Given the description of an element on the screen output the (x, y) to click on. 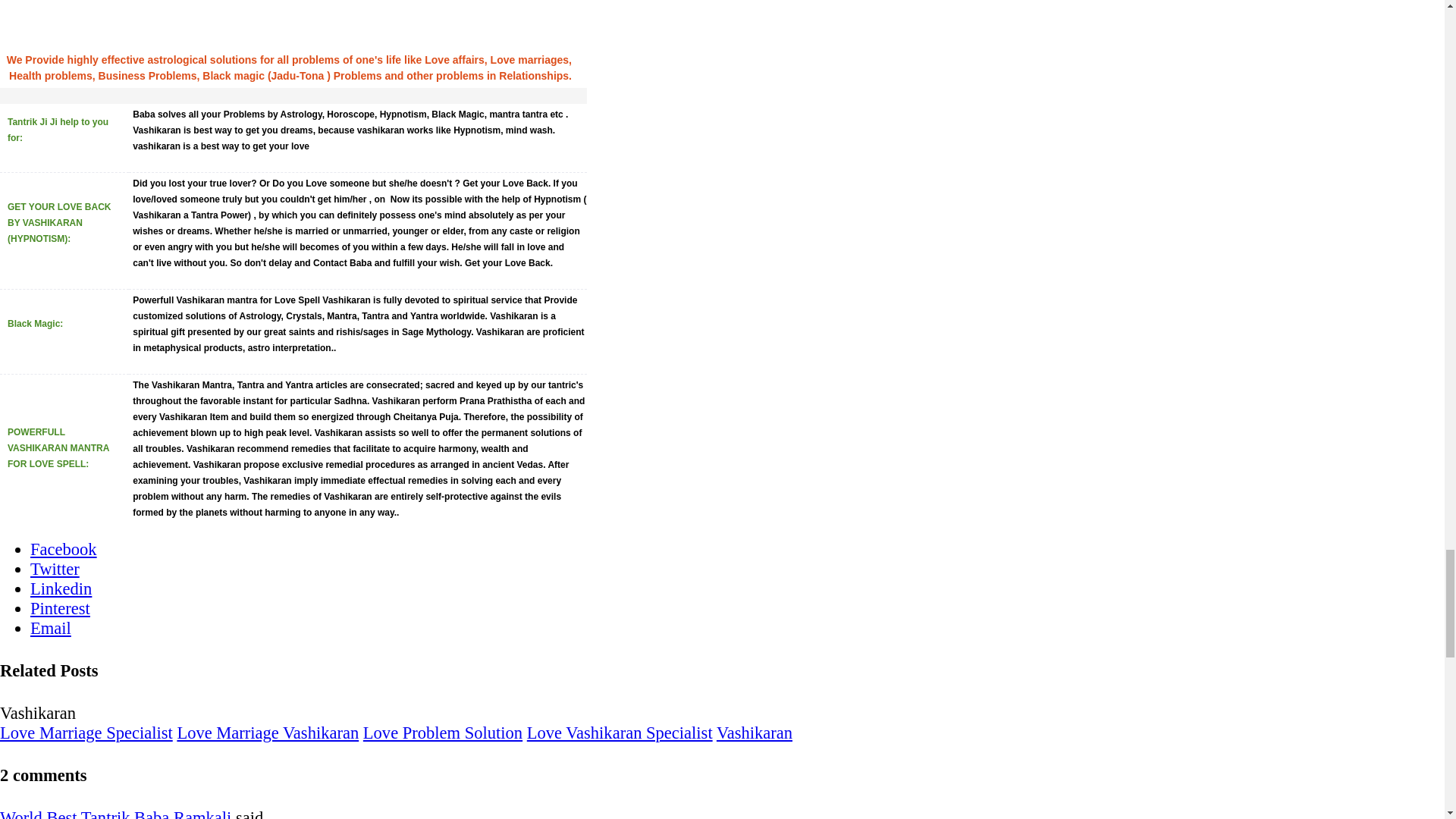
Email (50, 628)
Love Marriage Vashikaran (267, 732)
World Best Tantrik Baba Ramkali (115, 813)
Tweet on Twitter! (55, 568)
Vashikaran (754, 732)
Pin it (60, 608)
Facebook (63, 548)
Twitter (55, 568)
Linkedin (60, 588)
Love Marriage Specialist (86, 732)
Share on Facebook! (63, 548)
Email (50, 628)
Love Problem Solution (442, 732)
Share on Linkedin! (60, 588)
Love Vashikaran Specialist (620, 732)
